Given the description of an element on the screen output the (x, y) to click on. 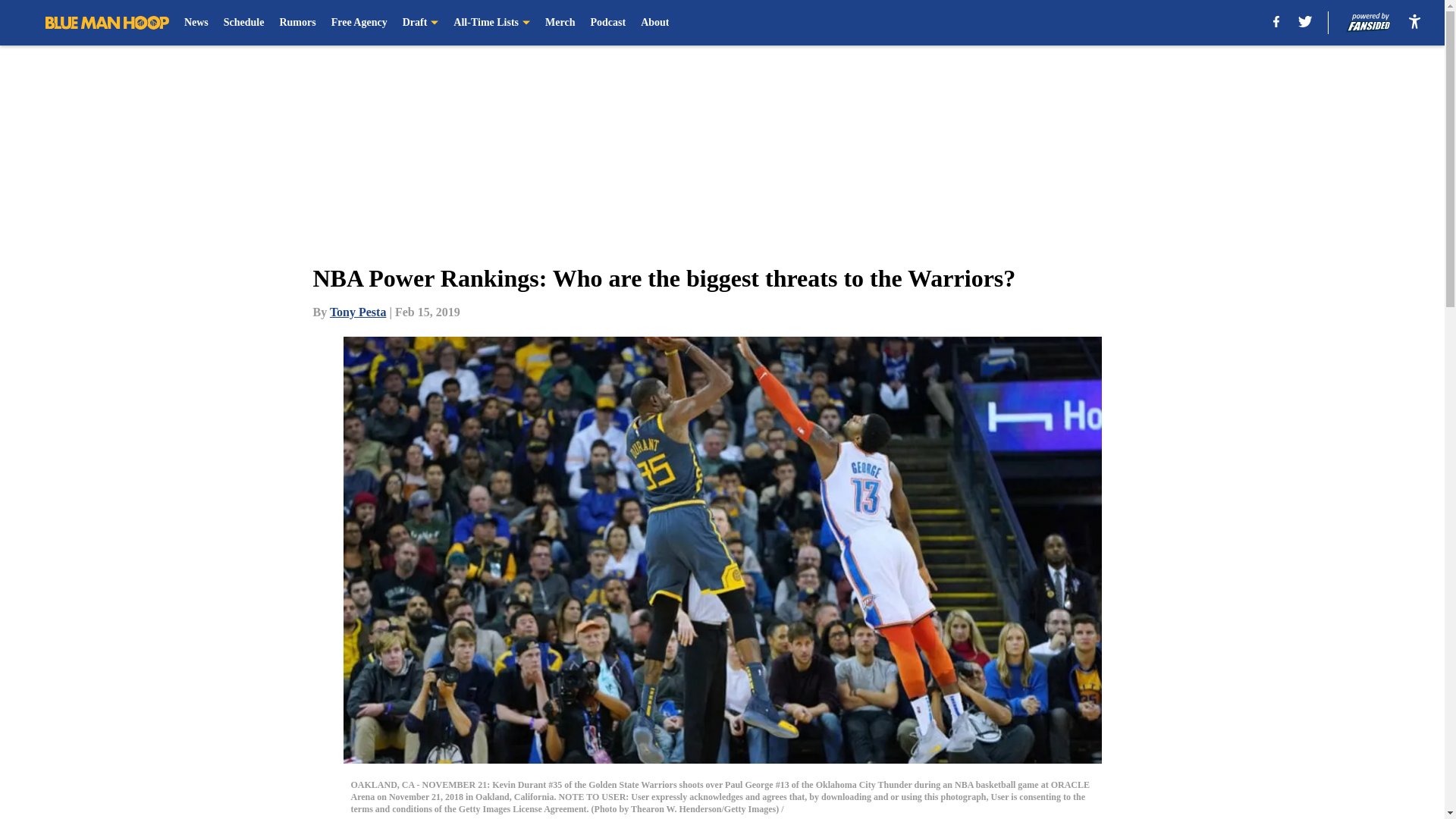
Podcast (607, 22)
News (196, 22)
Schedule (244, 22)
About (654, 22)
Free Agency (359, 22)
Merch (559, 22)
Tony Pesta (358, 311)
Draft (421, 22)
All-Time Lists (490, 22)
Rumors (297, 22)
